Given the description of an element on the screen output the (x, y) to click on. 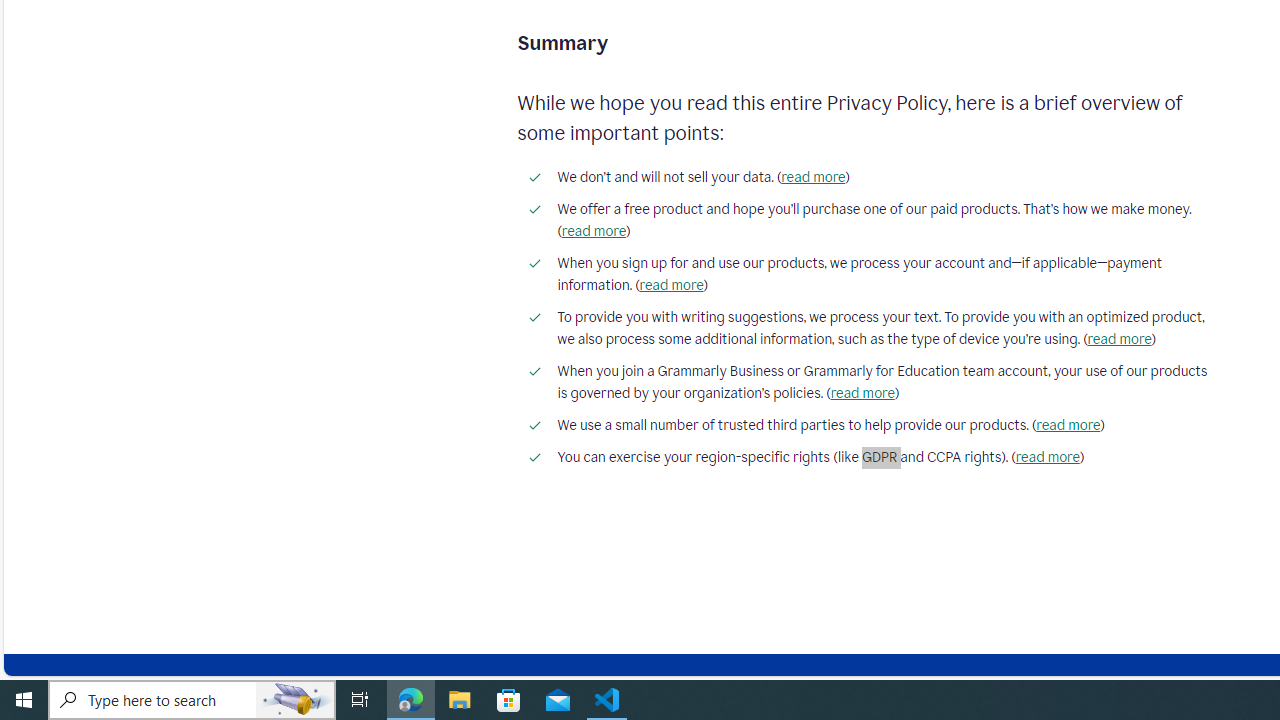
read more (1047, 457)
